Given the description of an element on the screen output the (x, y) to click on. 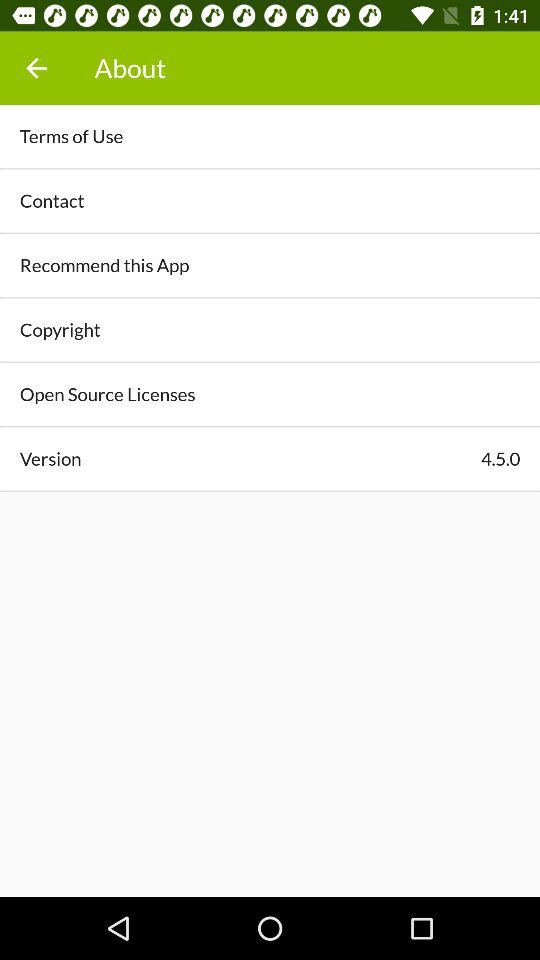
open the icon above terms of use item (36, 68)
